Given the description of an element on the screen output the (x, y) to click on. 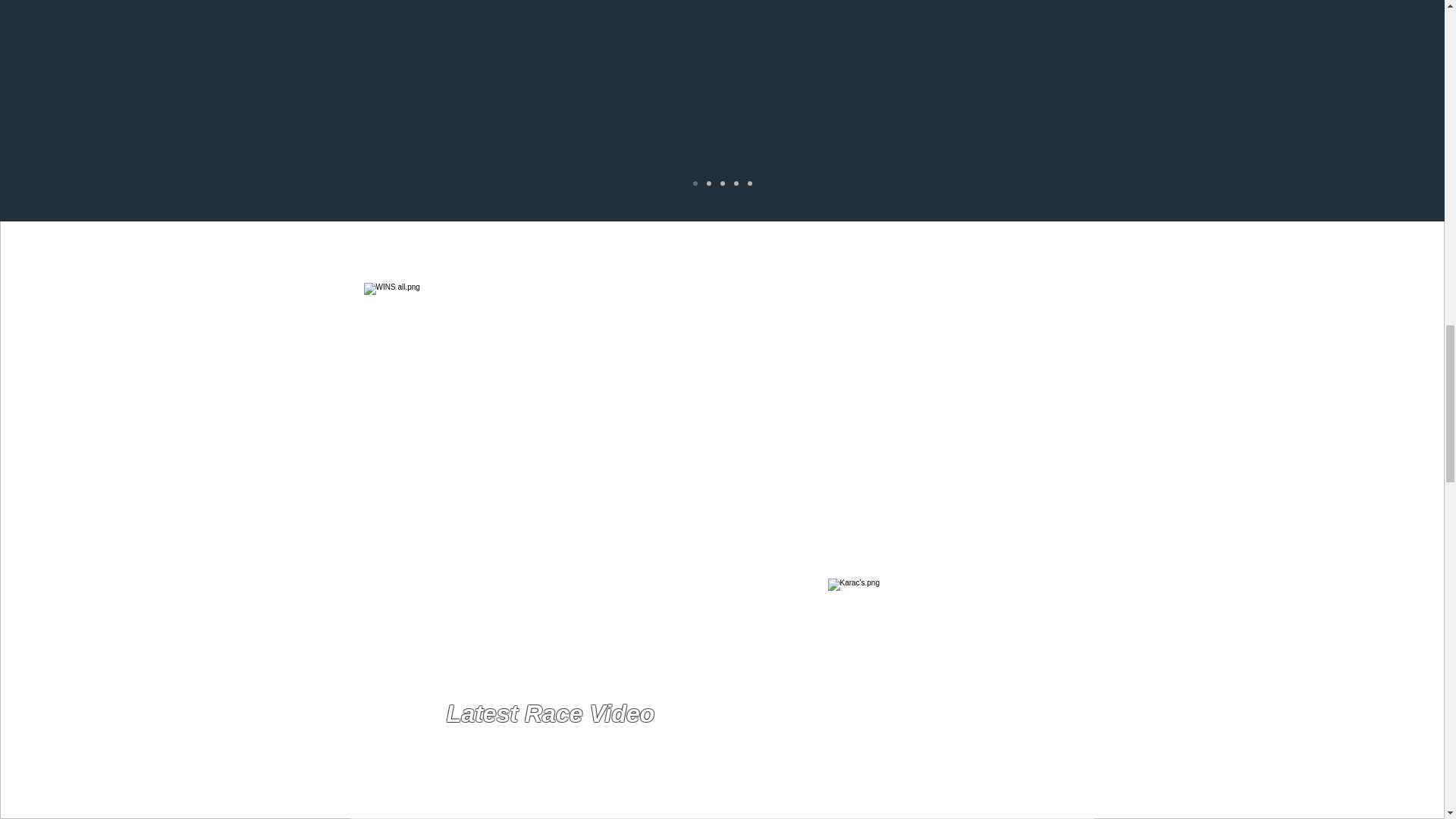
External YouTube (568, 792)
